Given the description of an element on the screen output the (x, y) to click on. 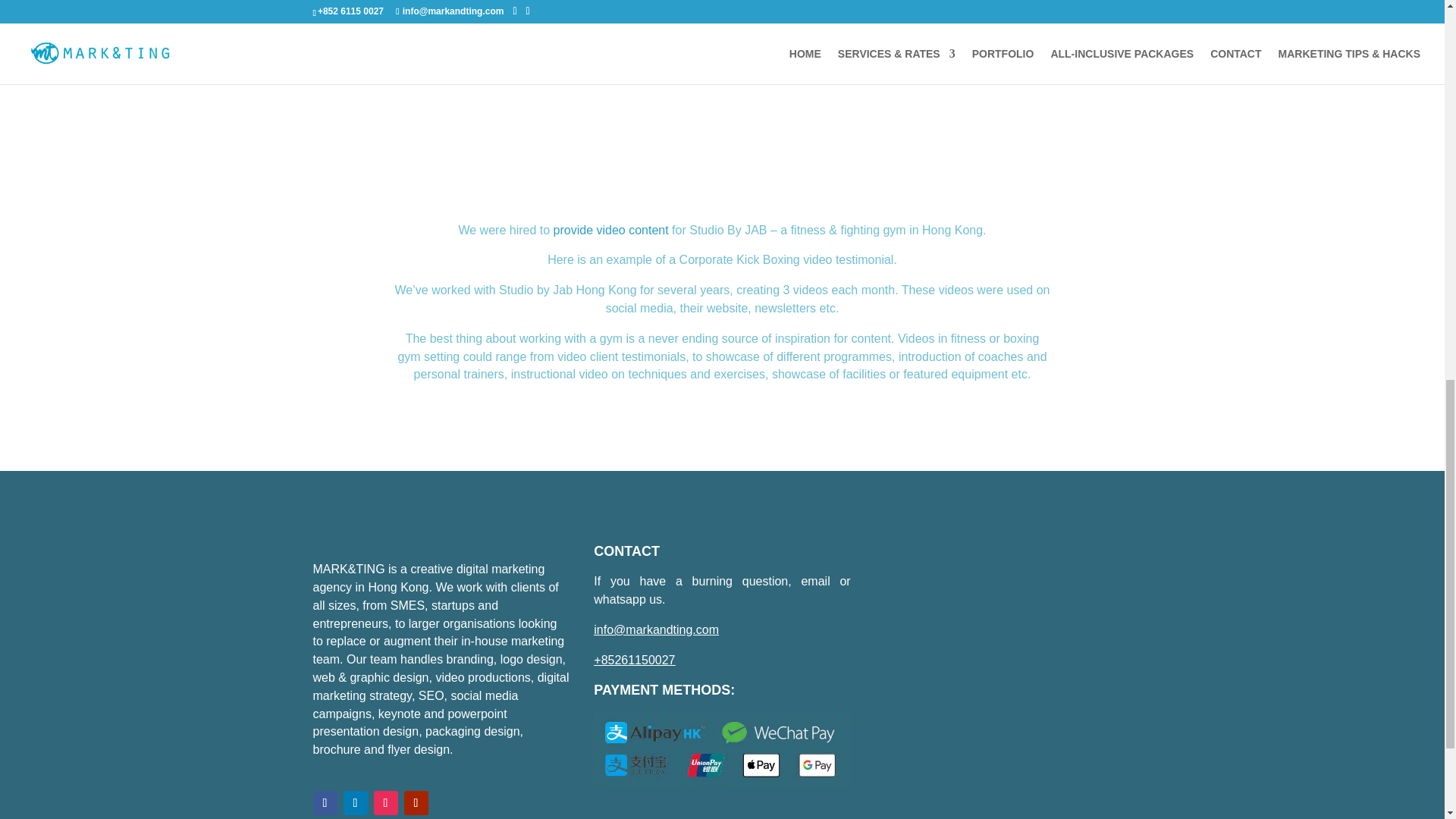
Follow on Youtube (415, 802)
Follow on Instagram (384, 802)
MARKTING-location-map-2 (1002, 672)
Follow on Facebook (324, 802)
Follow on LinkedIn (354, 802)
provide video content (610, 229)
